Given the description of an element on the screen output the (x, y) to click on. 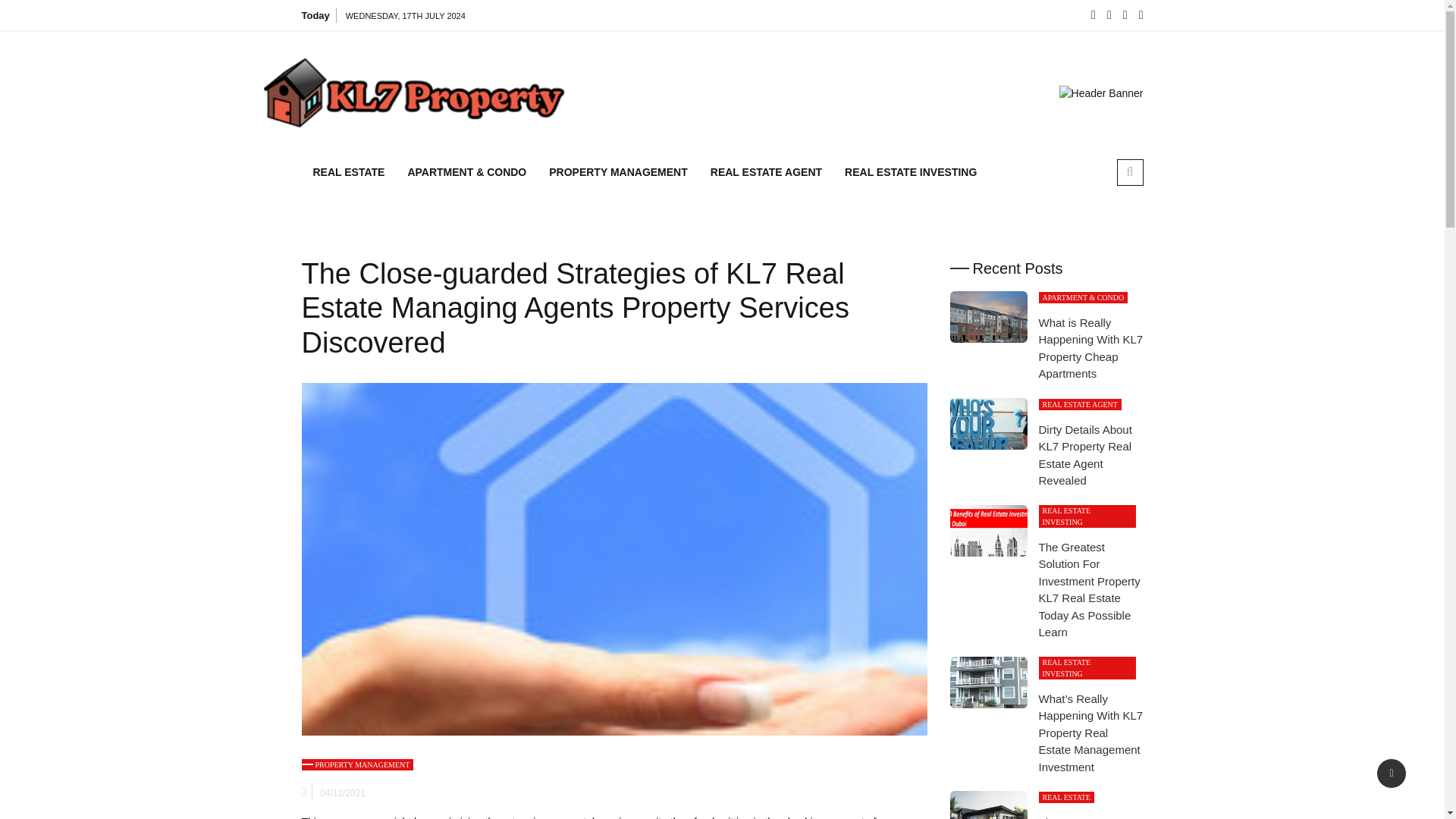
KL7 Property (630, 98)
REAL ESTATE AGENT (765, 172)
Dirty Details About KL7 Property Real Estate Agent Revealed (1085, 455)
REAL ESTATE AGENT (1080, 404)
What is Really Happening With KL7 Property Cheap Apartments (987, 317)
REAL ESTATE (348, 172)
PROPERTY MANAGEMENT (357, 763)
What is Really Happening With KL7 Property Cheap Apartments (1090, 348)
REAL ESTATE INVESTING (910, 172)
PROPERTY MANAGEMENT (617, 172)
Dirty Details About KL7 Property Real Estate Agent Revealed (987, 423)
